Given the description of an element on the screen output the (x, y) to click on. 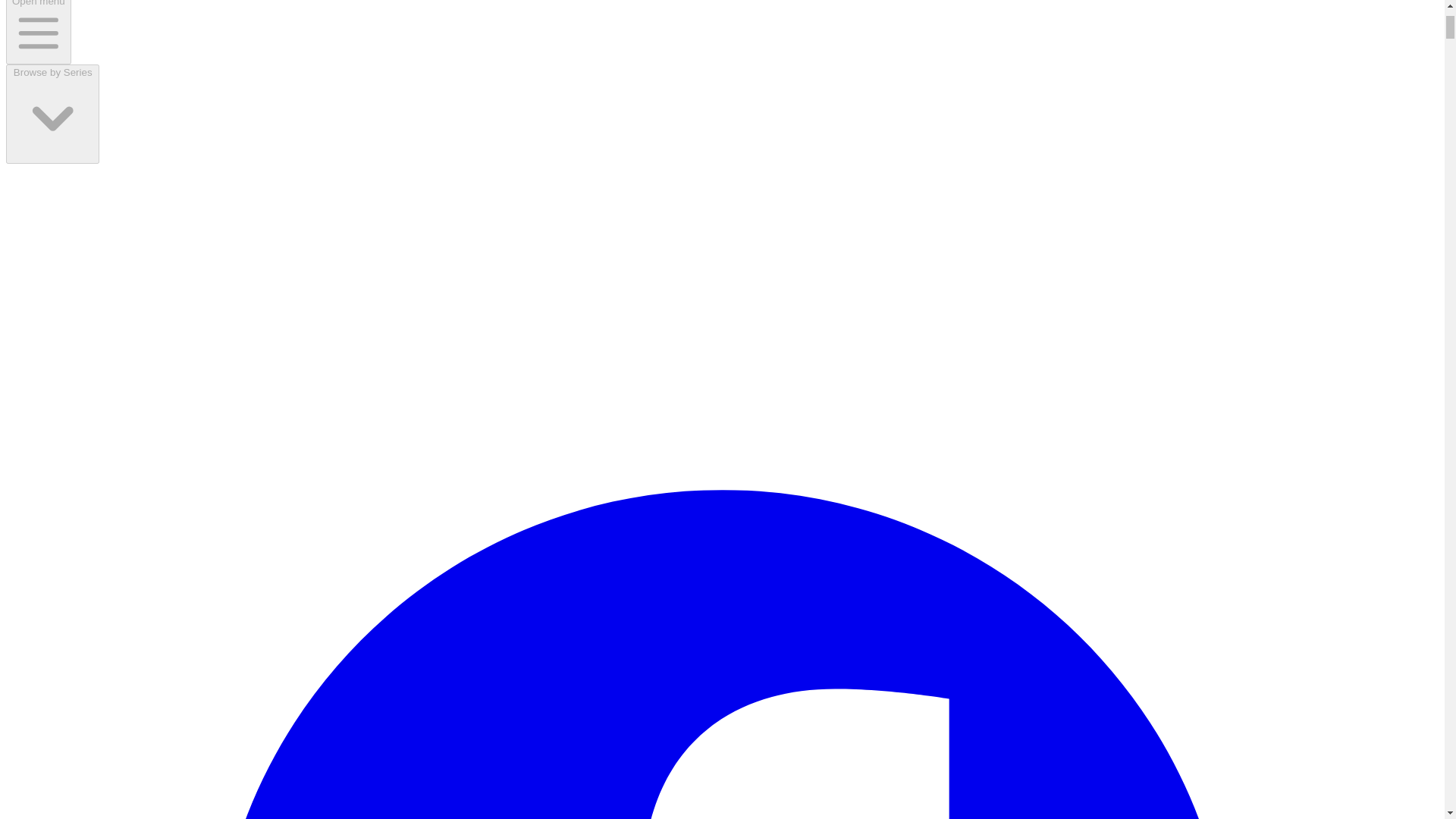
Open menu (38, 32)
Browse by Series (52, 113)
